Given the description of an element on the screen output the (x, y) to click on. 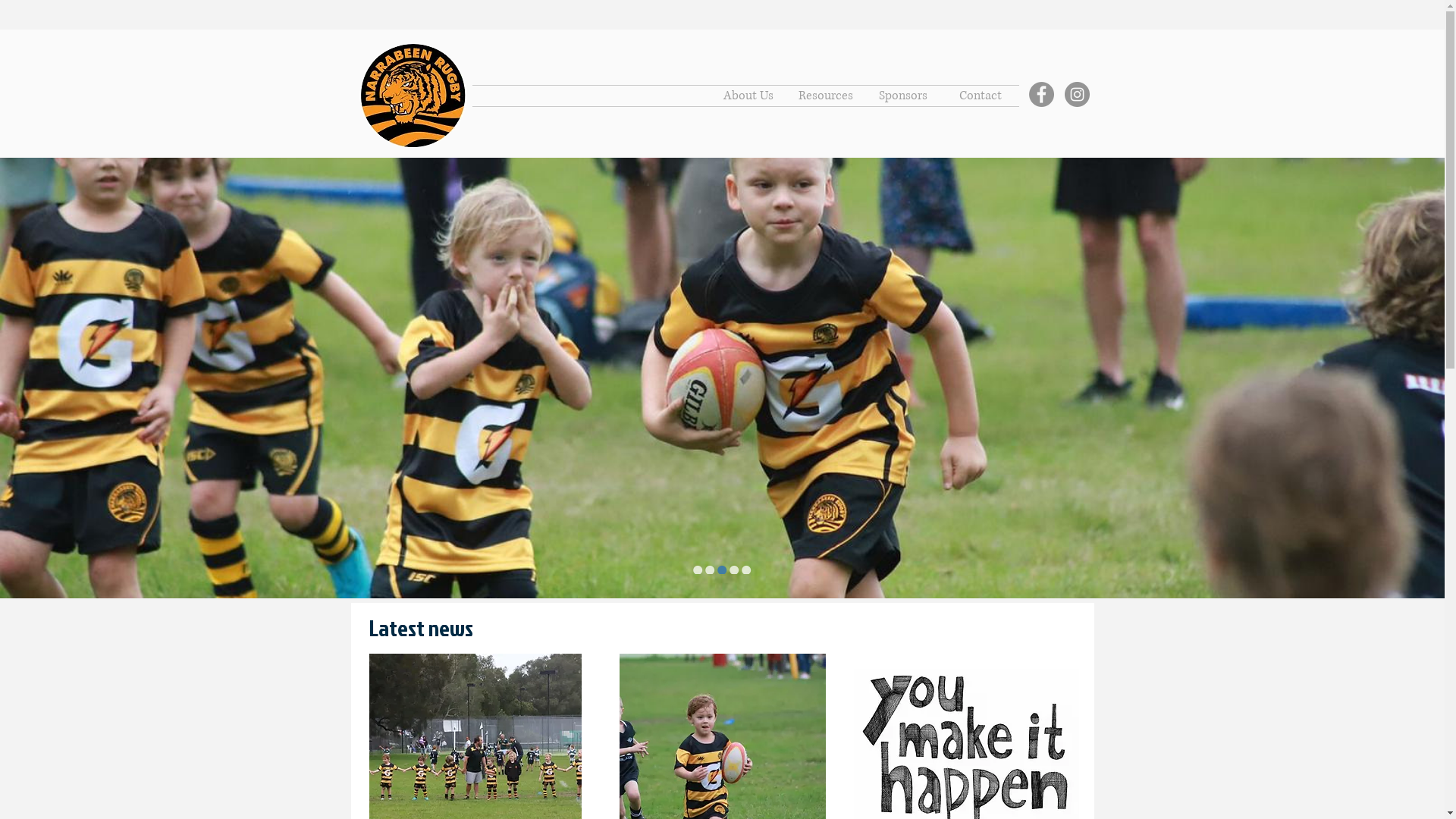
Sponsors Element type: text (902, 95)
About Us Element type: text (748, 95)
Tigers-Logo.jpg Element type: hover (413, 95)
Contact Element type: text (980, 95)
Resources Element type: text (825, 95)
